Given the description of an element on the screen output the (x, y) to click on. 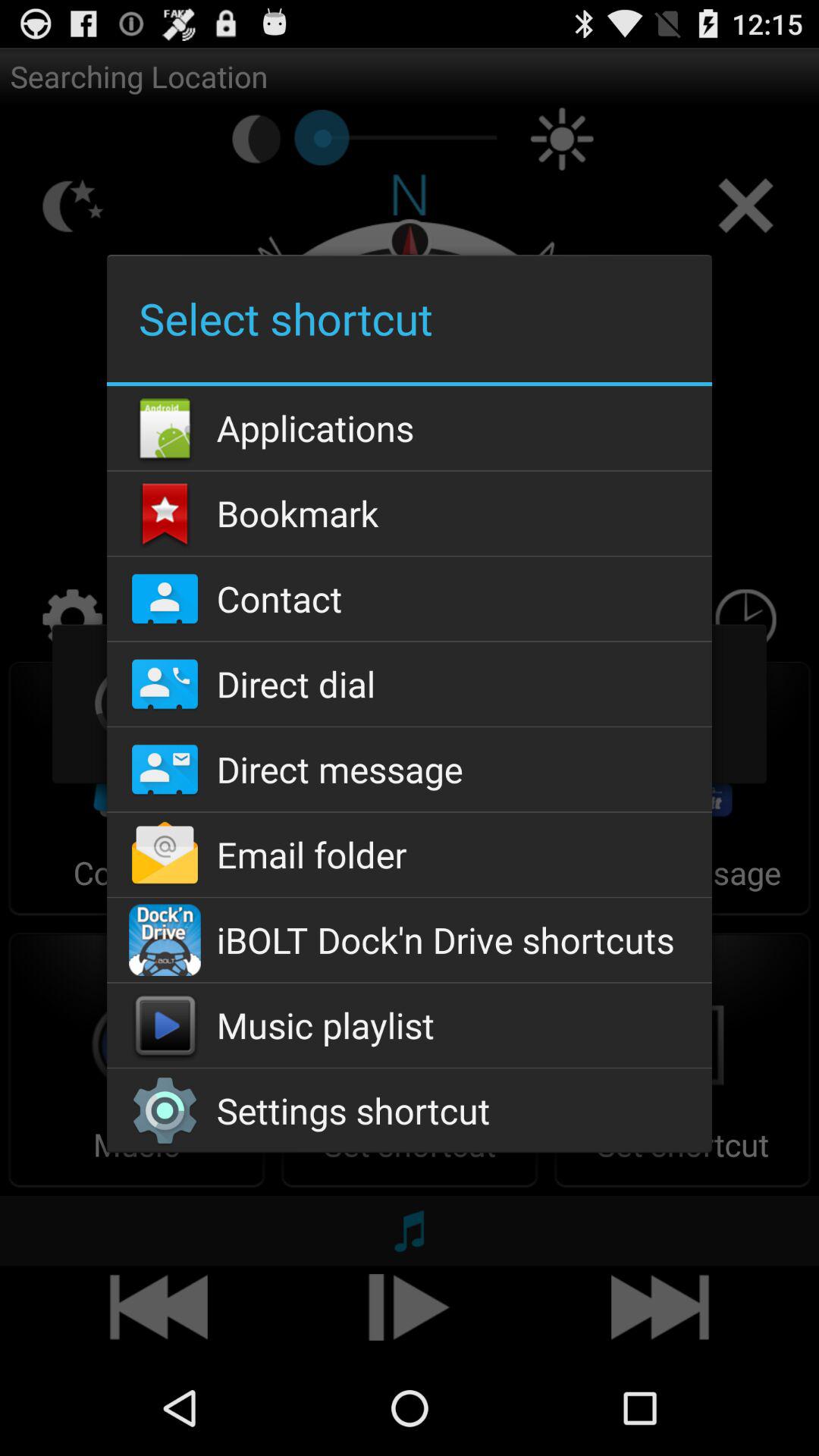
scroll until bookmark item (409, 513)
